Given the description of an element on the screen output the (x, y) to click on. 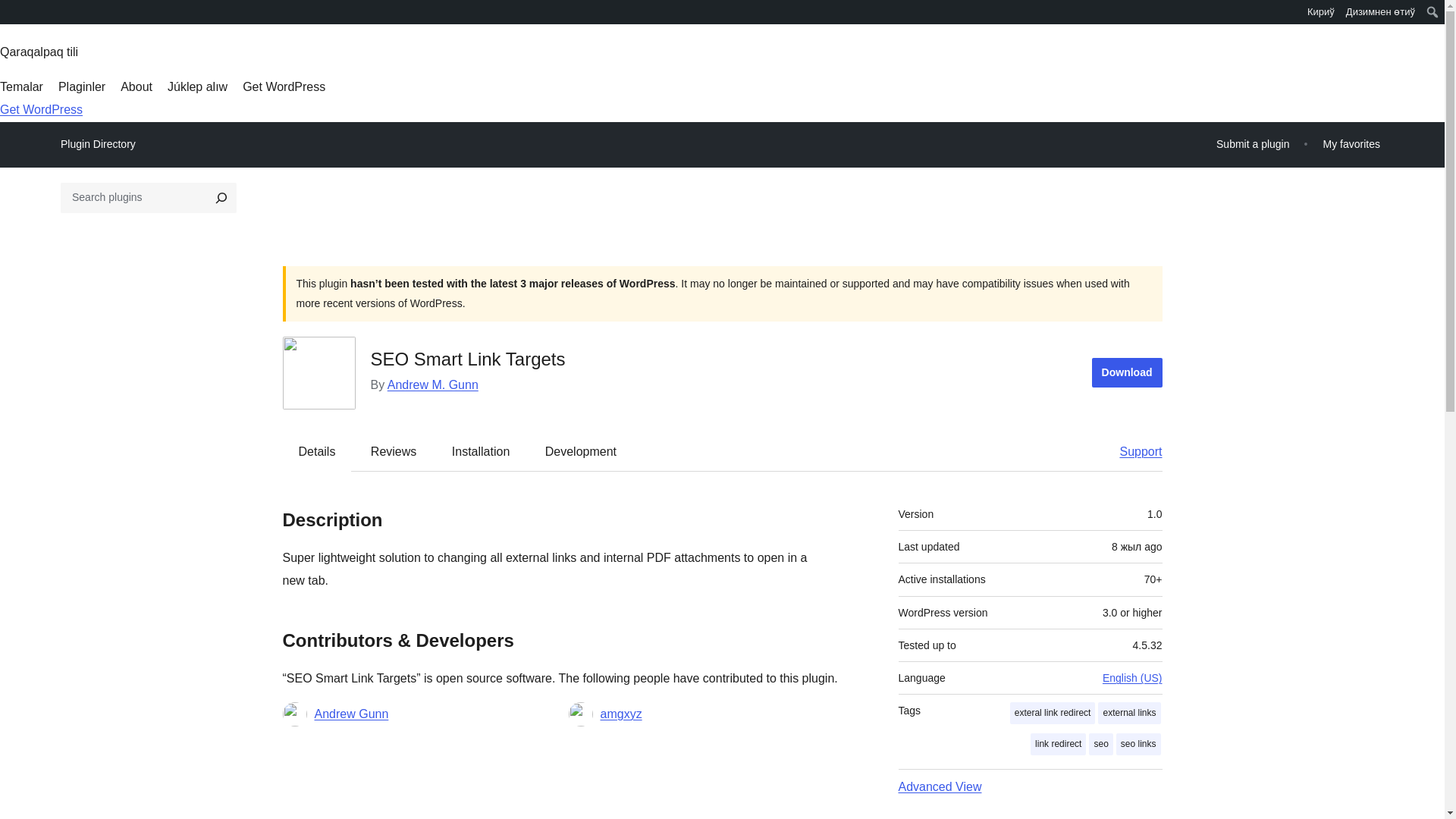
WordPress.org (10, 10)
My favorites (1351, 144)
Plaginler (81, 87)
Support (1132, 451)
About (136, 87)
Development (580, 451)
Installation (480, 451)
Get WordPress (283, 87)
Temalar (21, 87)
Submit a plugin (1253, 144)
Andrew Gunn (351, 713)
Plugin Directory (97, 143)
Reviews (392, 451)
WordPress.org (10, 16)
Andrew M. Gunn (433, 384)
